Given the description of an element on the screen output the (x, y) to click on. 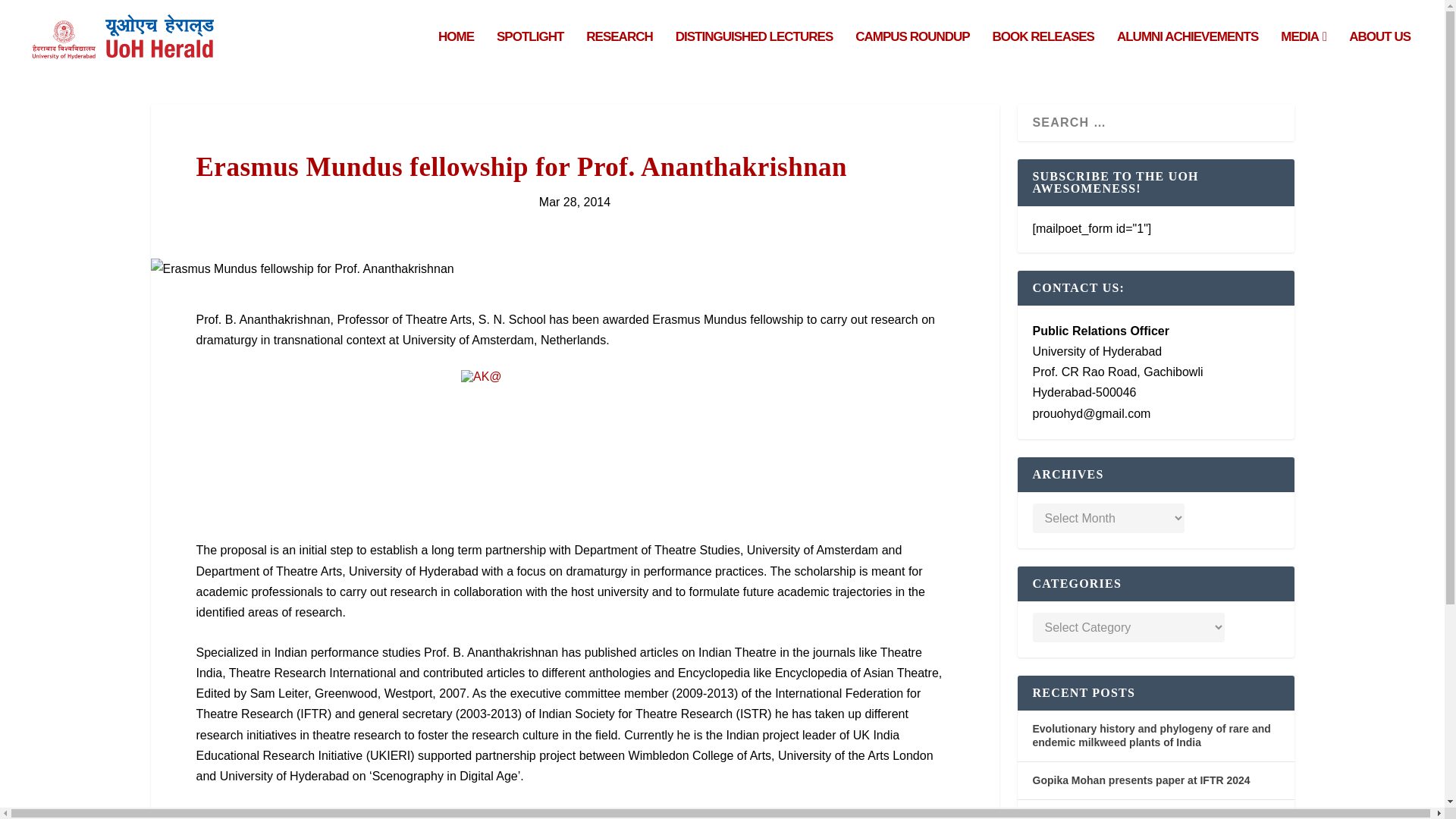
Shaik Aayesha selected for BRICS Youth summit 2024 (1155, 815)
Gopika Mohan presents paper at IFTR 2024 (1141, 779)
BOOK RELEASES (1043, 52)
DISTINGUISHED LECTURES (753, 52)
ALUMNI ACHIEVEMENTS (1186, 52)
SPOTLIGHT (529, 52)
RESEARCH (619, 52)
Search (34, 14)
MEDIA (1303, 52)
CAMPUS ROUNDUP (912, 52)
ABOUT US (1379, 52)
